Given the description of an element on the screen output the (x, y) to click on. 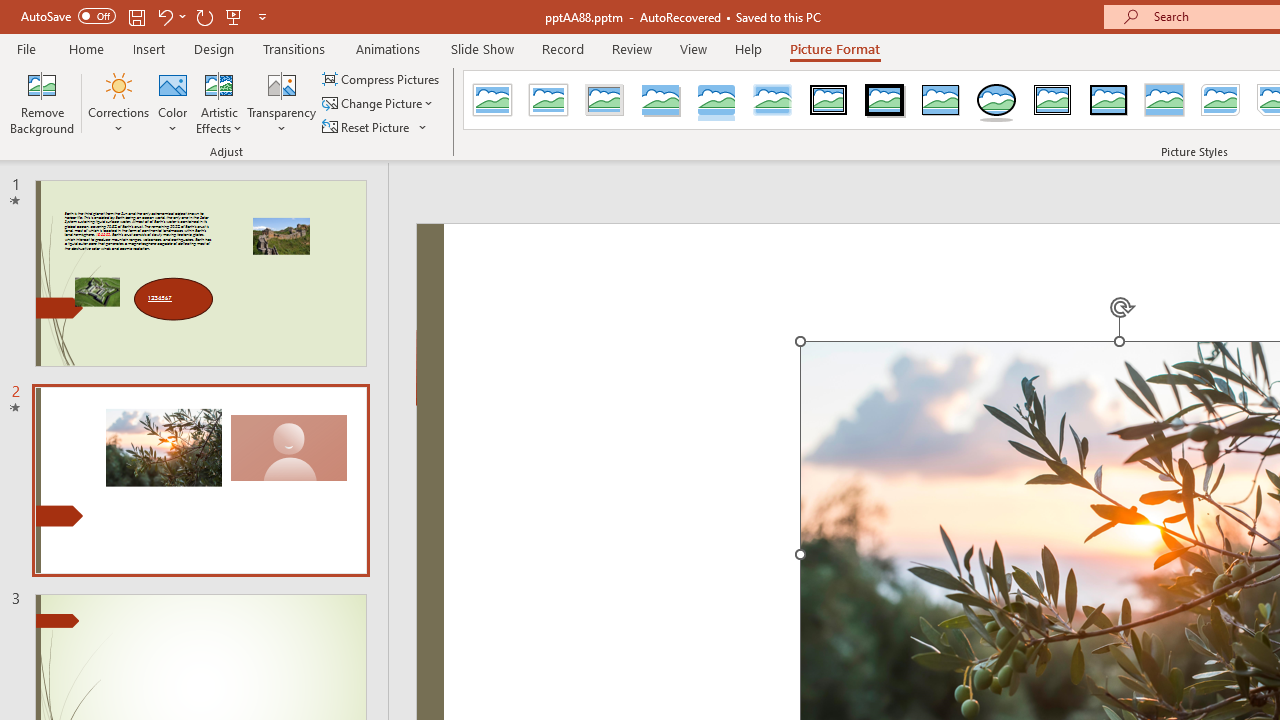
Drop Shadow Rectangle (660, 100)
Reset Picture (367, 126)
Remove Background (41, 102)
Moderate Frame, Black (1108, 100)
Metal Frame (605, 100)
Color (173, 102)
